Given the description of an element on the screen output the (x, y) to click on. 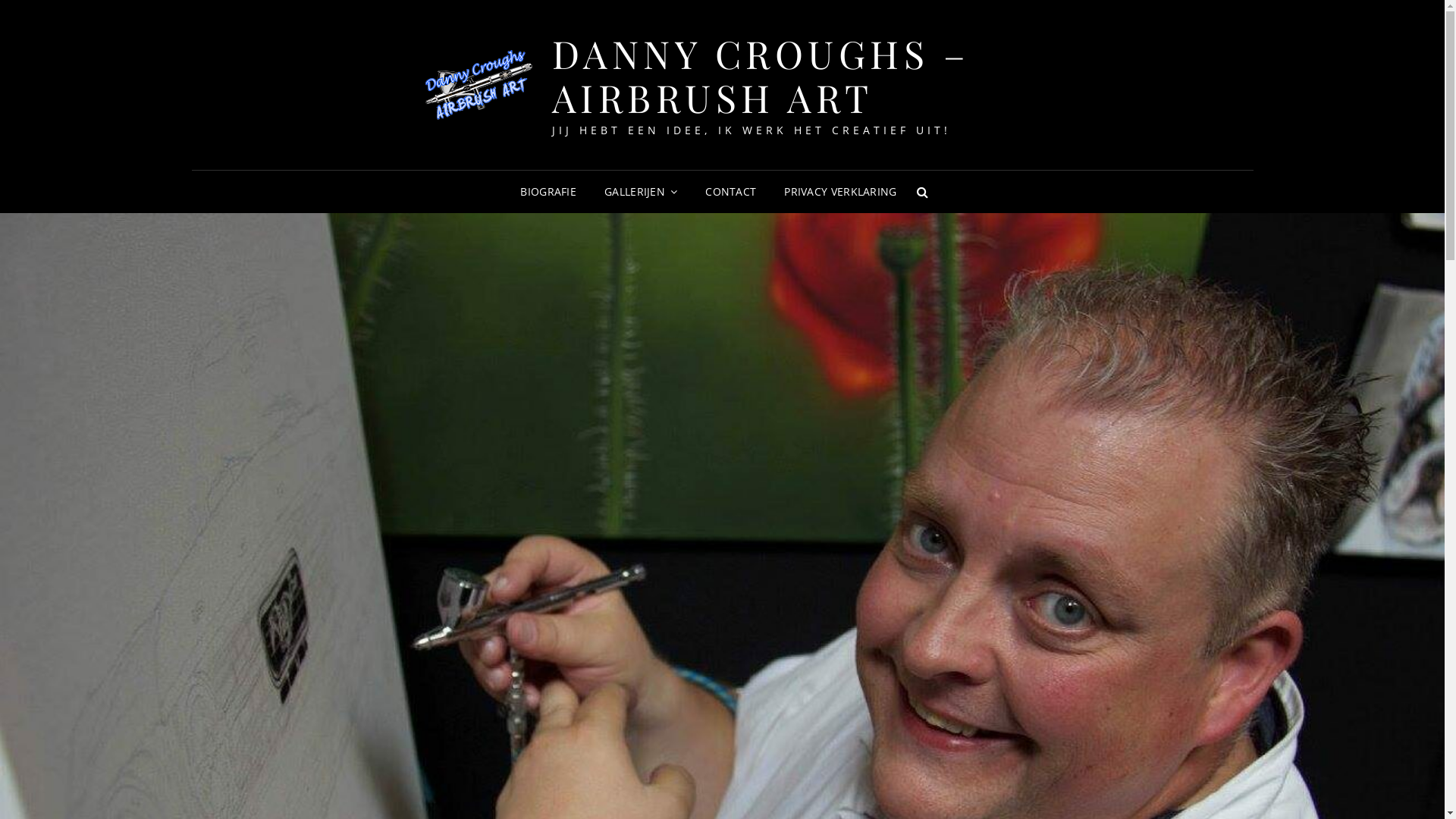
BIOGRAFIE Element type: text (548, 191)
CONTACT Element type: text (730, 191)
GALLERIJEN Element type: text (640, 191)
ZOEKEN Element type: text (922, 191)
PRIVACY VERKLARING Element type: text (839, 191)
